Given the description of an element on the screen output the (x, y) to click on. 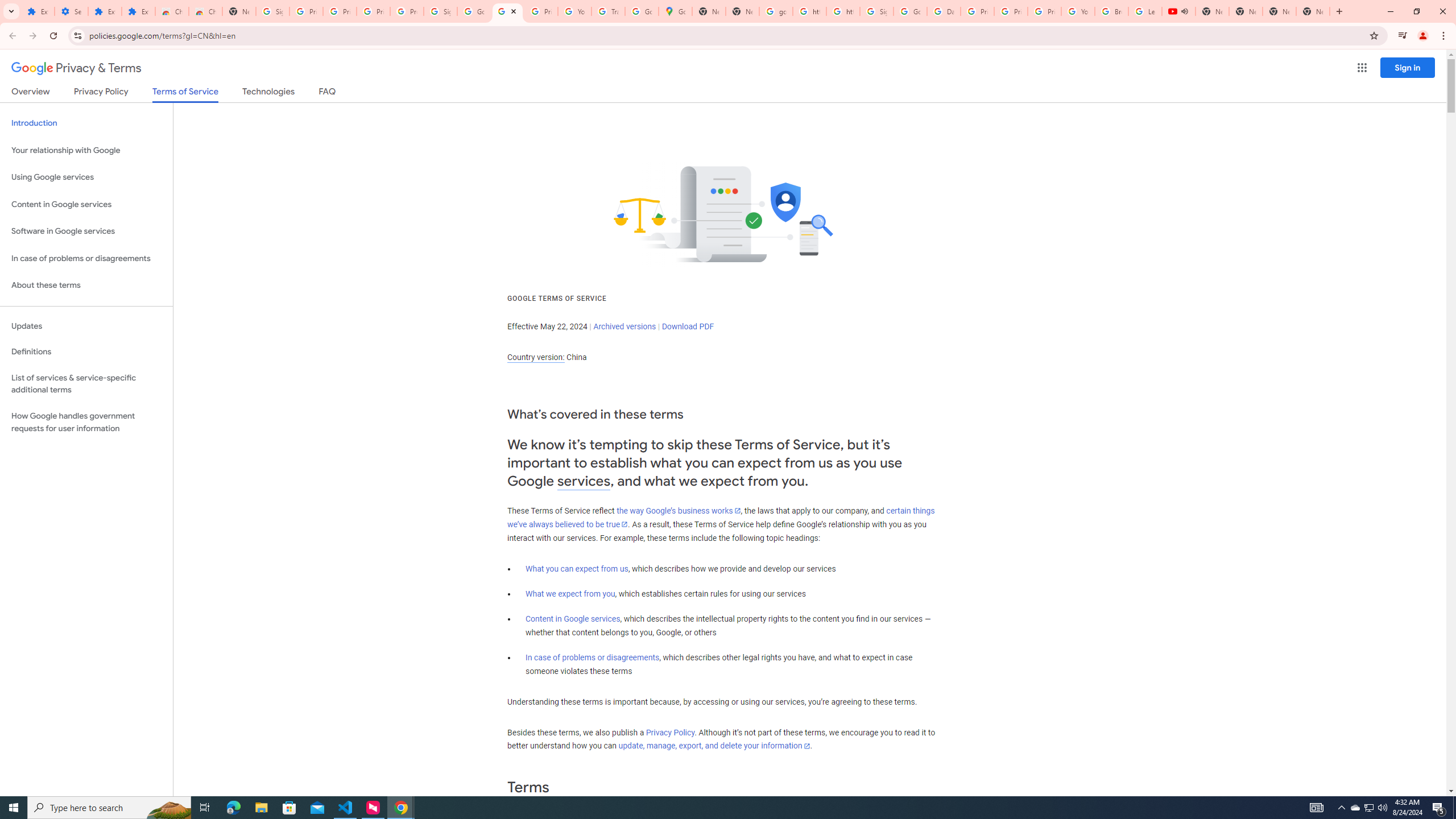
What we expect from you (570, 593)
New Tab (238, 11)
update, manage, export, and delete your information (714, 746)
services (583, 480)
